Given the description of an element on the screen output the (x, y) to click on. 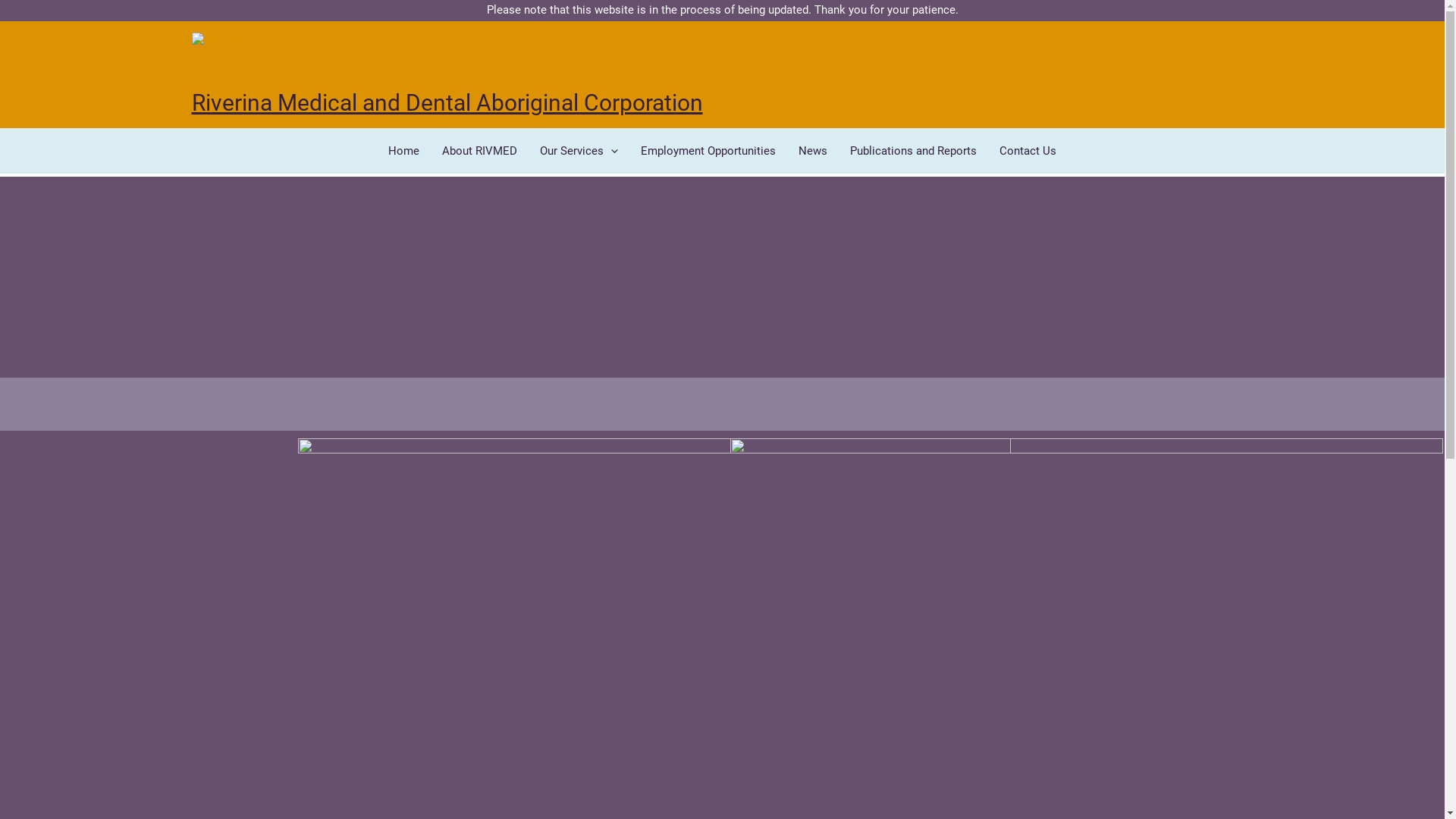
Riverina Medical and Dental Aboriginal Corporation Element type: text (446, 102)
Home Element type: text (403, 150)
Publications and Reports Element type: text (913, 150)
Contact Us Element type: text (1027, 150)
Employment Opportunities Element type: text (708, 150)
News Element type: text (812, 150)
About RIVMED Element type: text (479, 150)
Our Services Element type: text (578, 150)
